Given the description of an element on the screen output the (x, y) to click on. 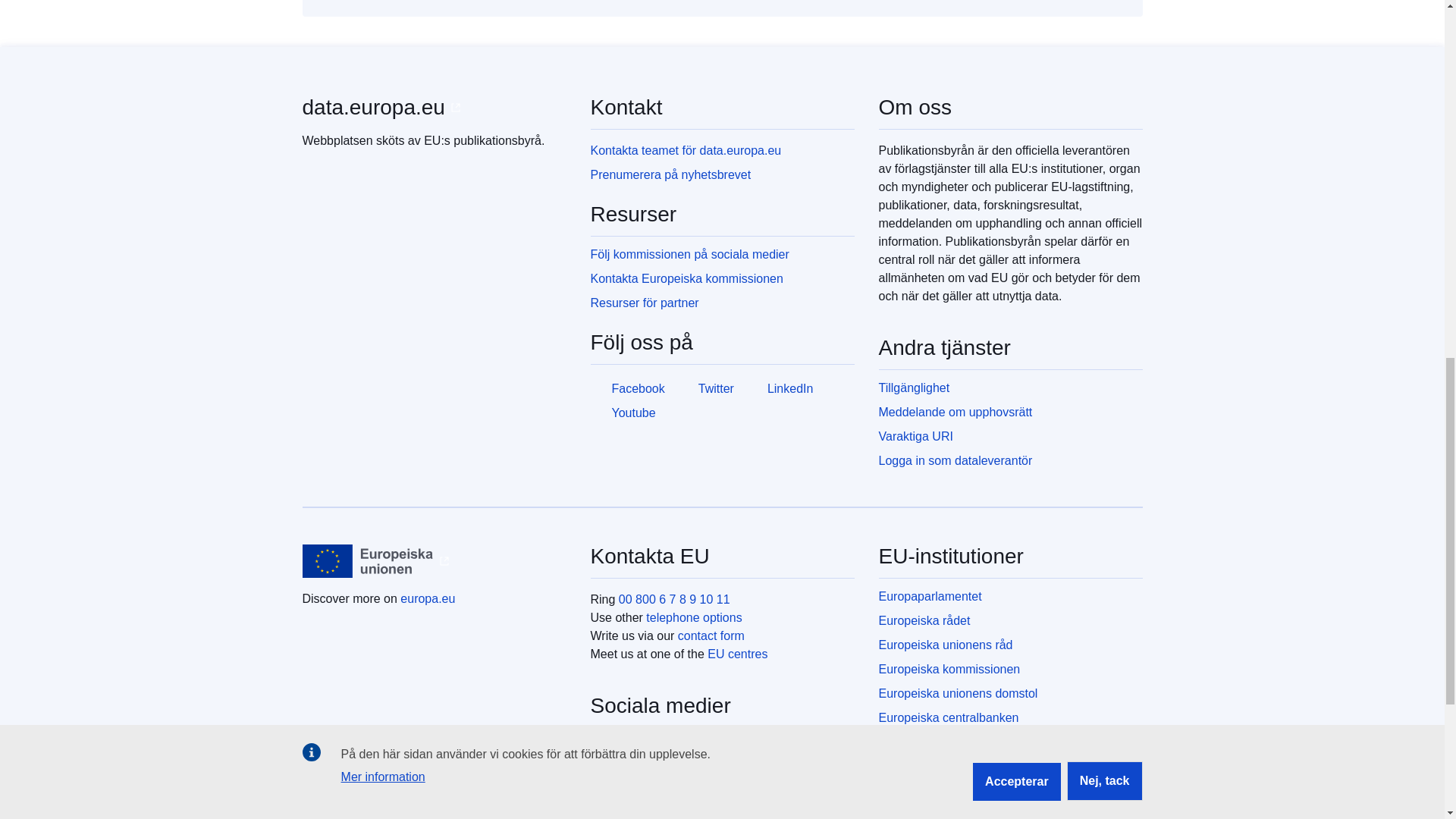
European Union (366, 561)
